Given the description of an element on the screen output the (x, y) to click on. 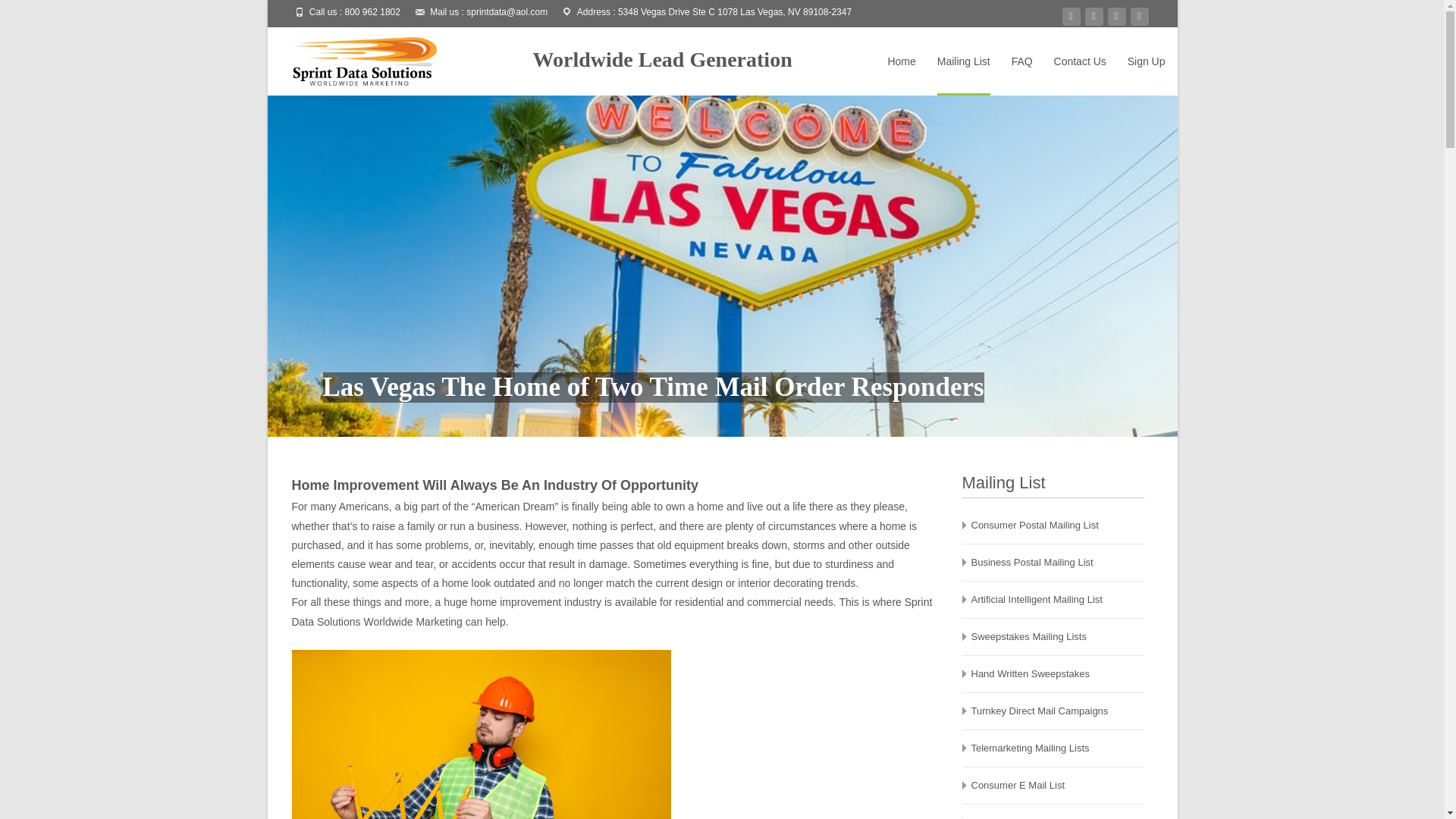
Skip to content (913, 36)
Mailing List (963, 61)
Skip to content (913, 36)
googleplus (1093, 16)
twitter (1115, 16)
Home (900, 61)
linkedin (1138, 16)
facebook (1070, 16)
800 962 1802 (372, 11)
